Given the description of an element on the screen output the (x, y) to click on. 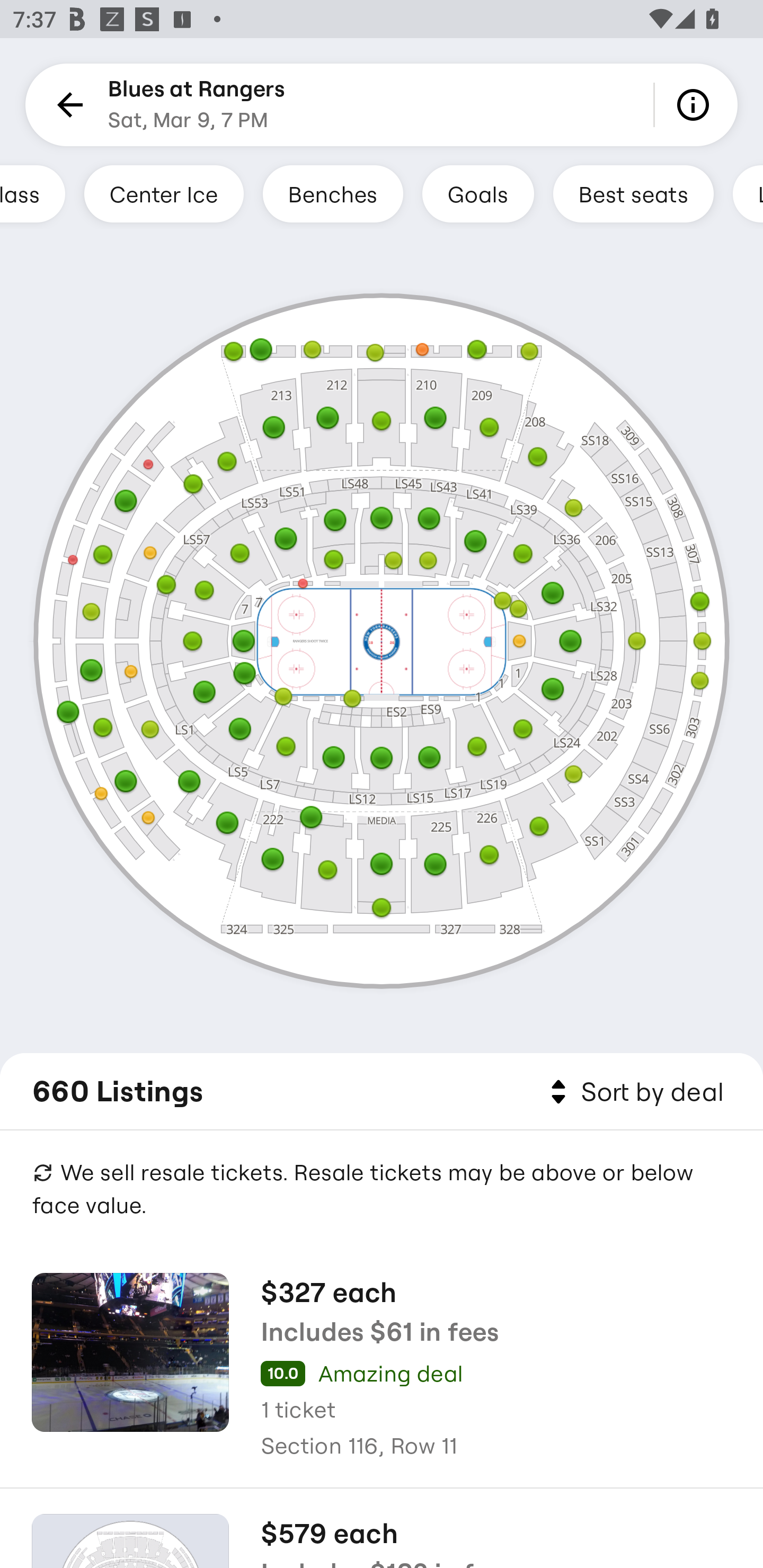
Back (66, 104)
Blues at Rangers Sat, Mar 9, 7 PM (196, 104)
Info (695, 104)
Center Ice (163, 193)
Benches (332, 193)
Goals (477, 193)
Best seats (633, 193)
Sort by deal (633, 1091)
